Given the description of an element on the screen output the (x, y) to click on. 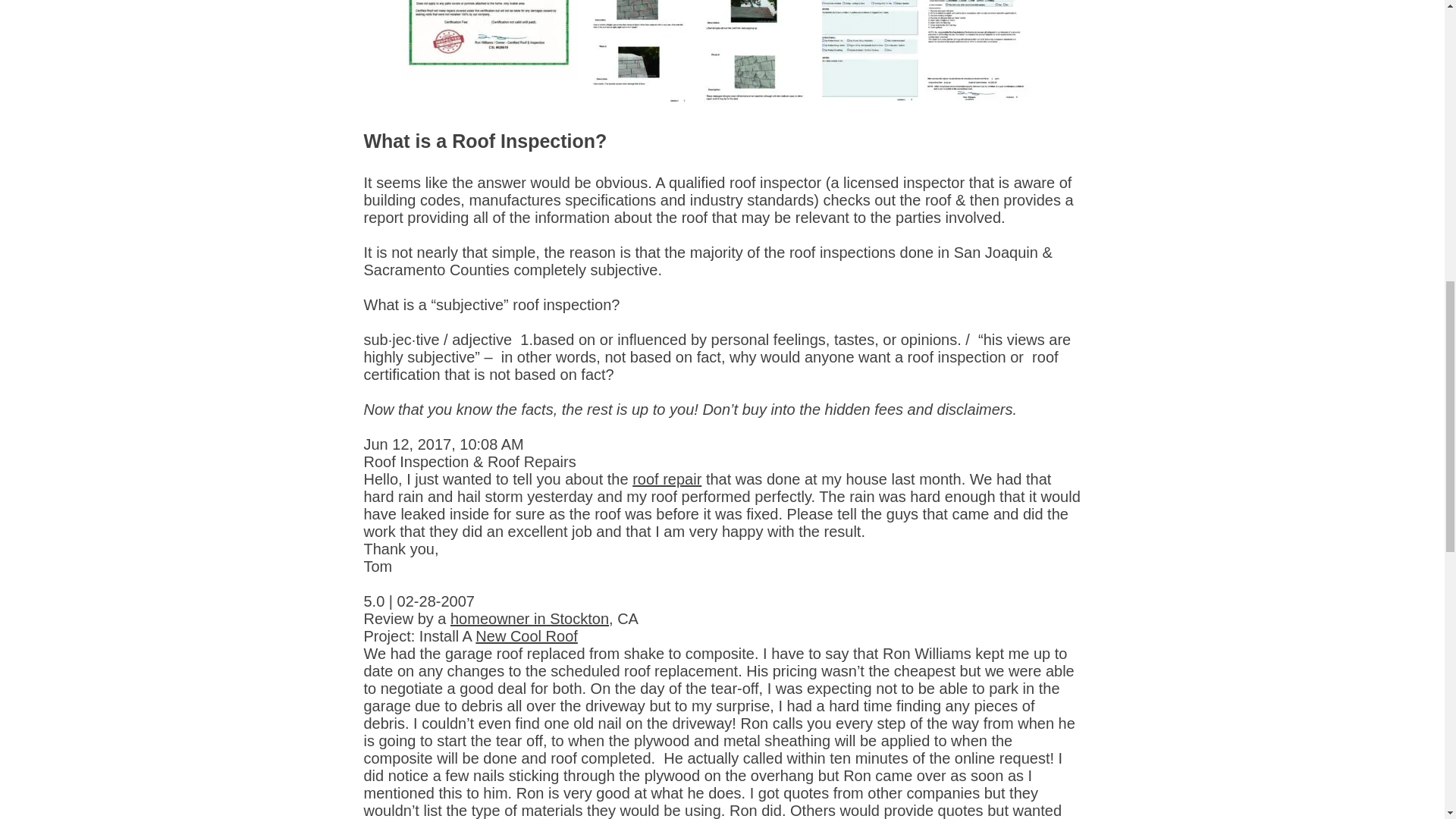
roof repair (666, 478)
homeowner in Stockton (528, 618)
New Cool Roof (527, 636)
